Given the description of an element on the screen output the (x, y) to click on. 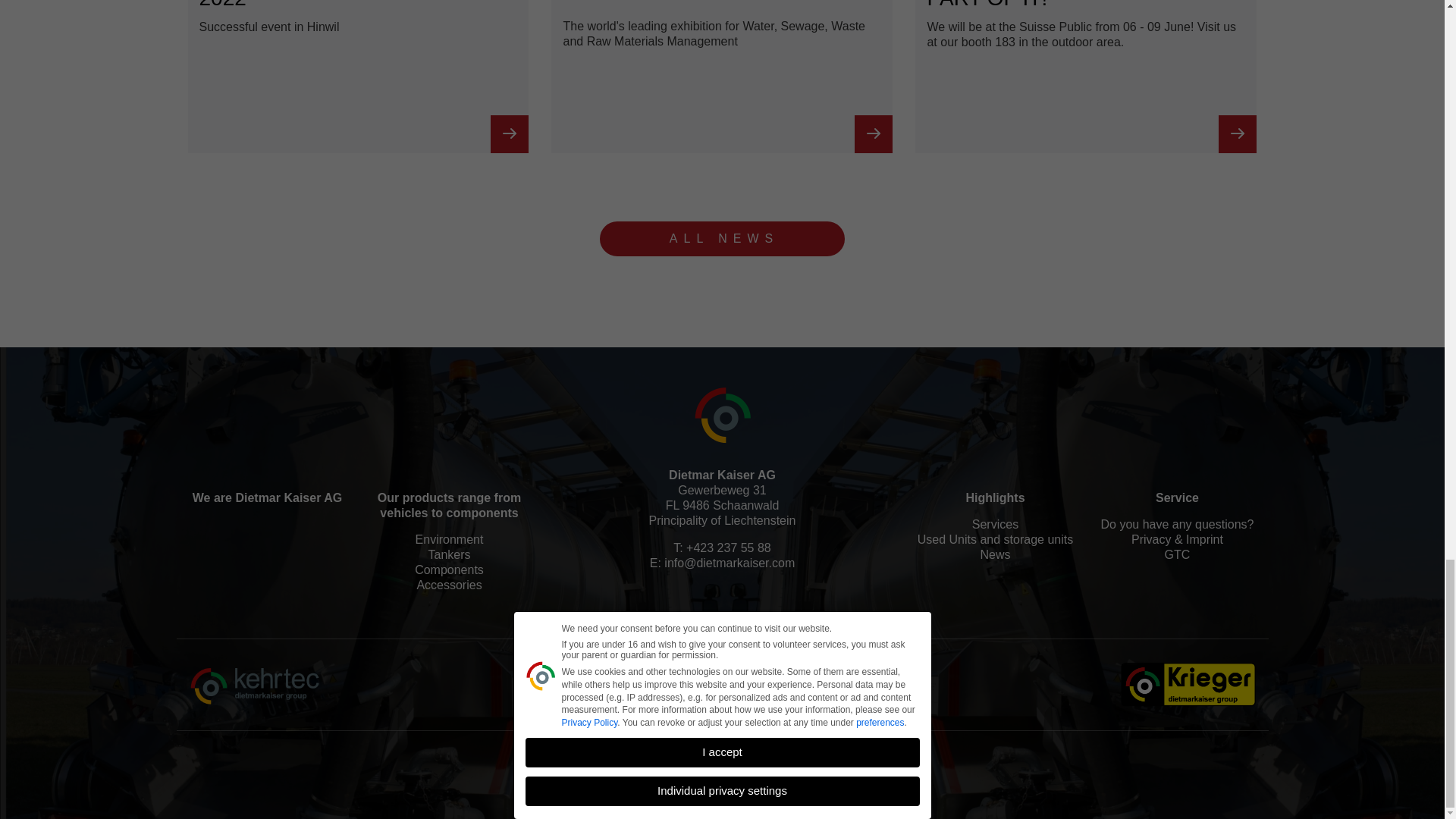
We are Dietmar Kaiser AG (358, 76)
Our products range from vehicles to components (267, 498)
Environment (449, 505)
Components (449, 539)
Tankers (449, 570)
ALL NEWS (449, 554)
Accessories (721, 238)
